Given the description of an element on the screen output the (x, y) to click on. 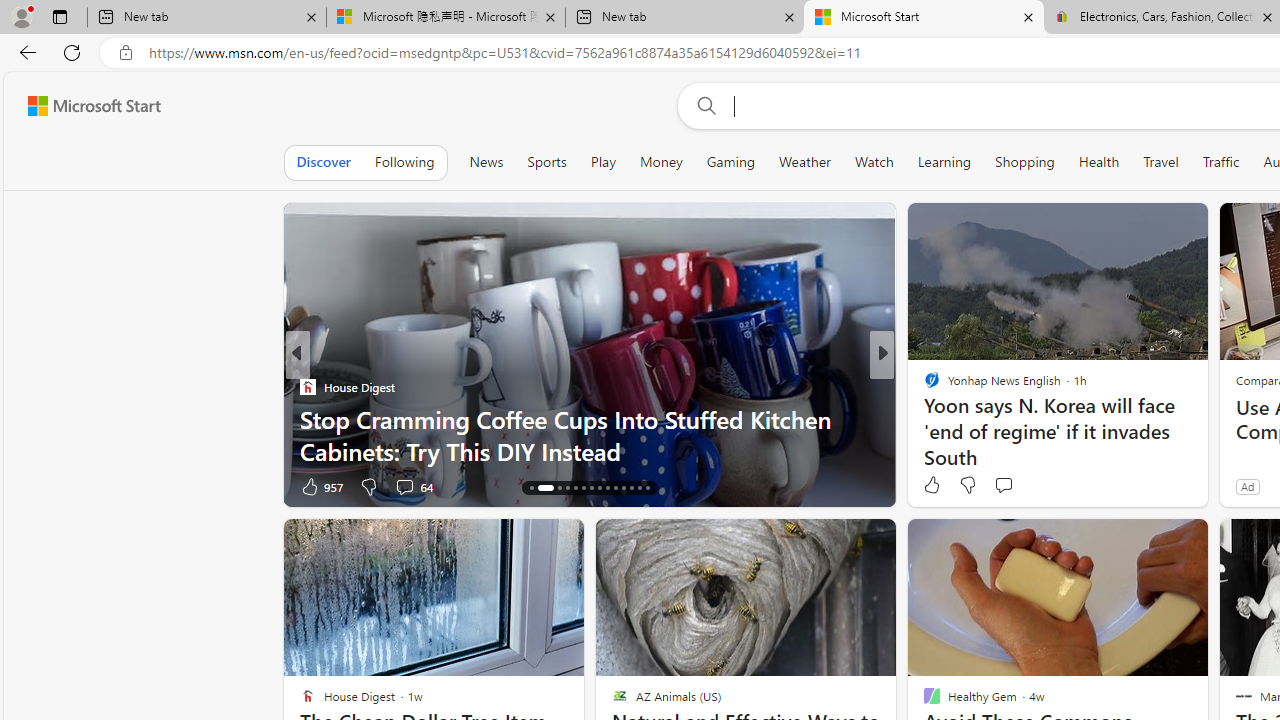
326 Like (936, 486)
View comments 4 Comment (1019, 486)
AutomationID: tab-23 (606, 487)
97 Like (934, 486)
Aspose (934, 418)
AutomationID: tab-15 (531, 487)
AutomationID: tab-27 (638, 487)
547 Like (936, 486)
View comments 165 Comment (1032, 486)
